Given the description of an element on the screen output the (x, y) to click on. 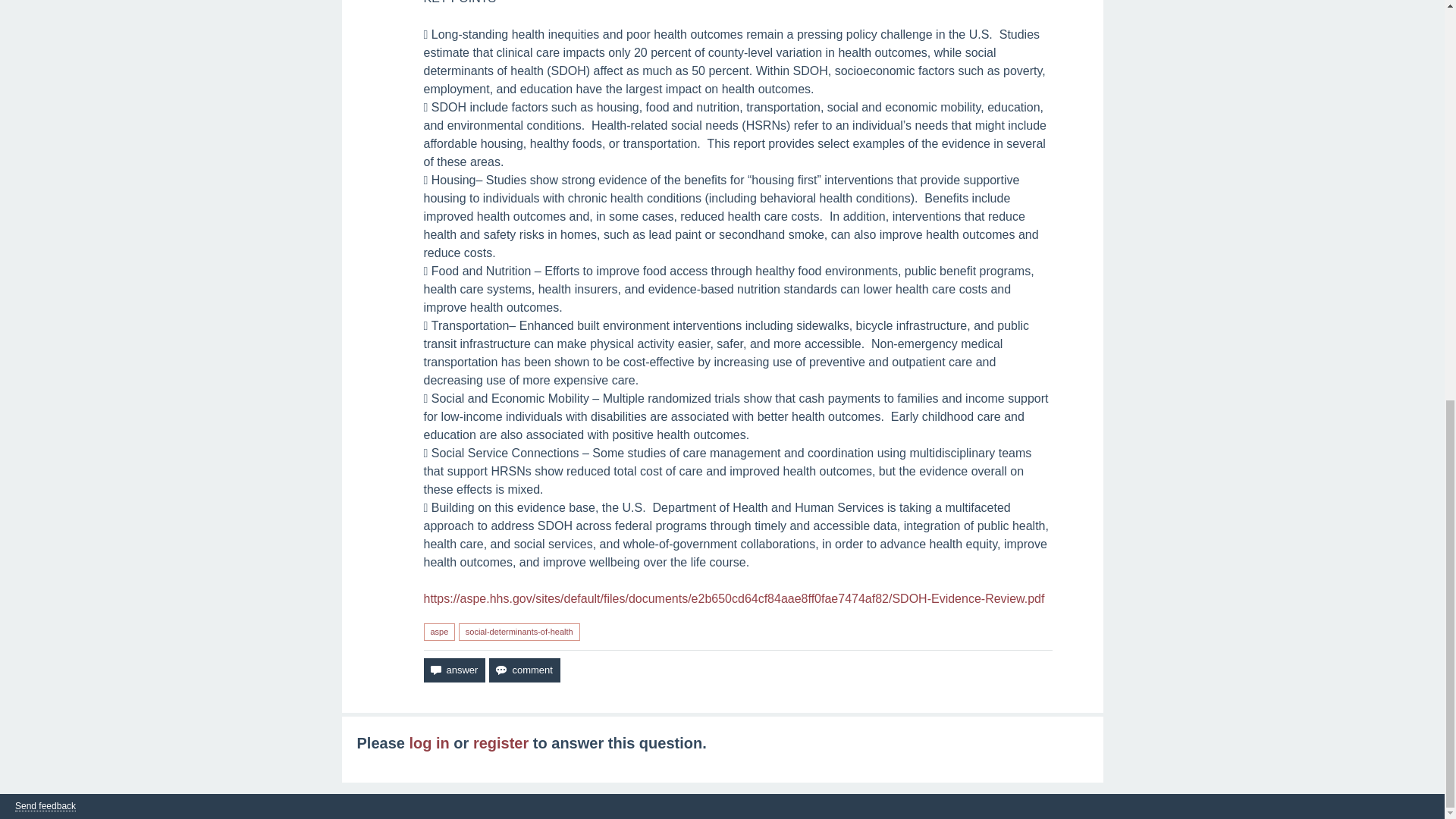
log in (428, 742)
Send feedback (44, 806)
answer (453, 670)
Answer this question (453, 670)
aspe (438, 631)
answer (453, 670)
social-determinants-of-health (518, 631)
comment (524, 670)
comment (524, 670)
register (500, 742)
